Given the description of an element on the screen output the (x, y) to click on. 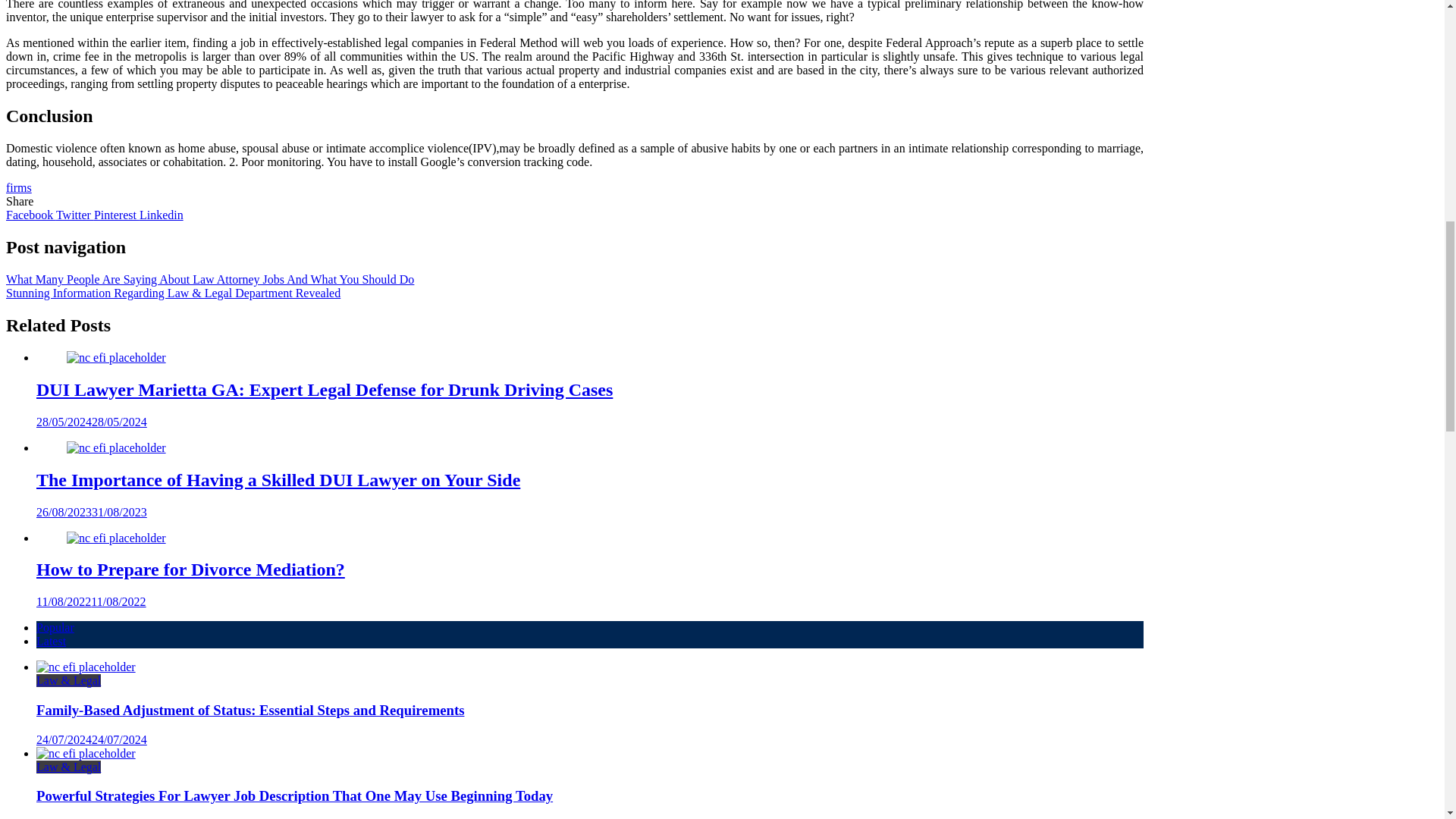
firms (18, 187)
How to Prepare for Divorce Mediation? (115, 537)
Facebook (30, 214)
The Importance of Having a Skilled DUI Lawyer on Your Side (115, 448)
The Importance of Having a Skilled DUI Lawyer on Your Side (277, 479)
Twitter (75, 214)
Linkedin (161, 214)
